Given the description of an element on the screen output the (x, y) to click on. 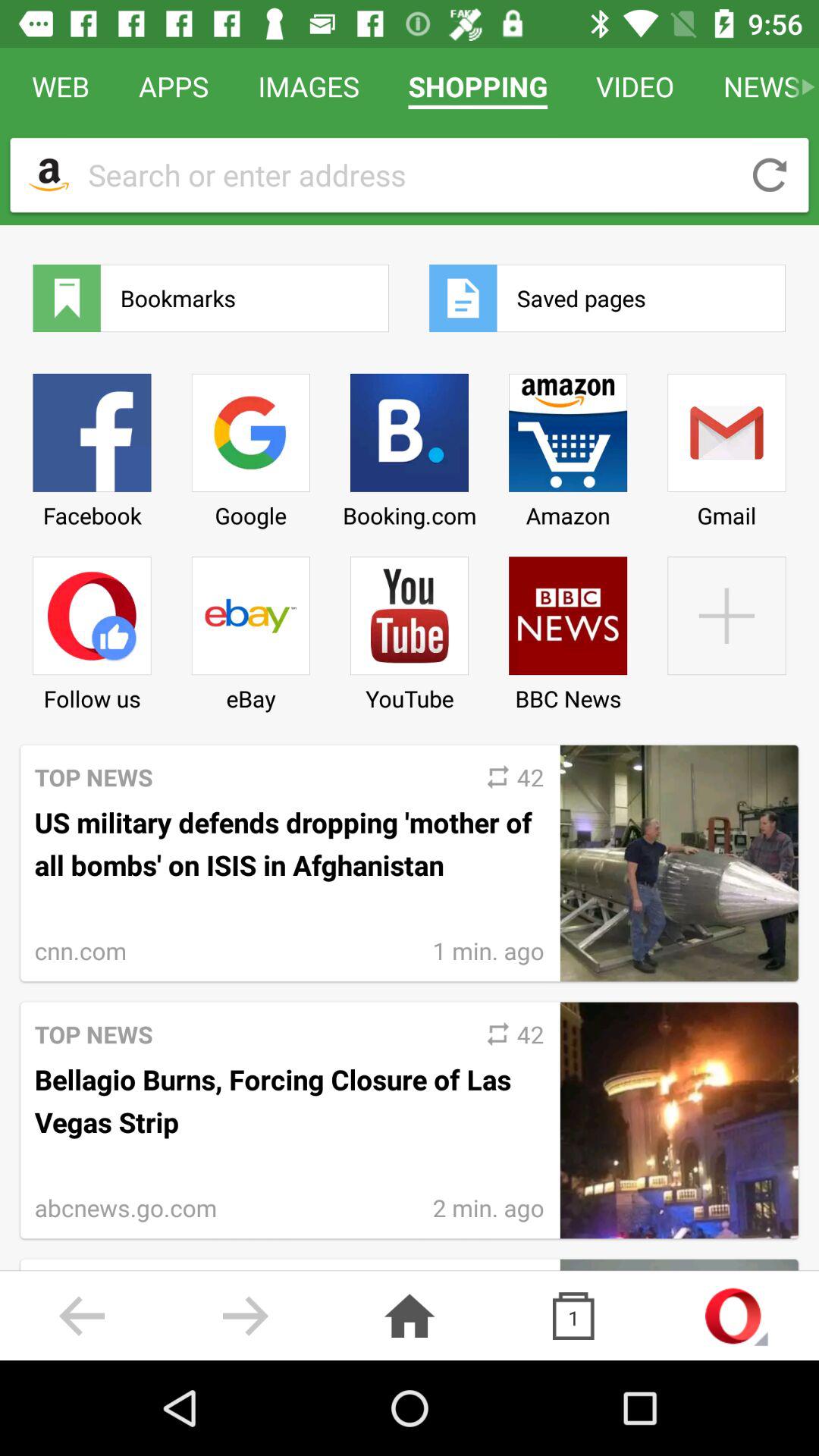
open images icon (308, 86)
